Given the description of an element on the screen output the (x, y) to click on. 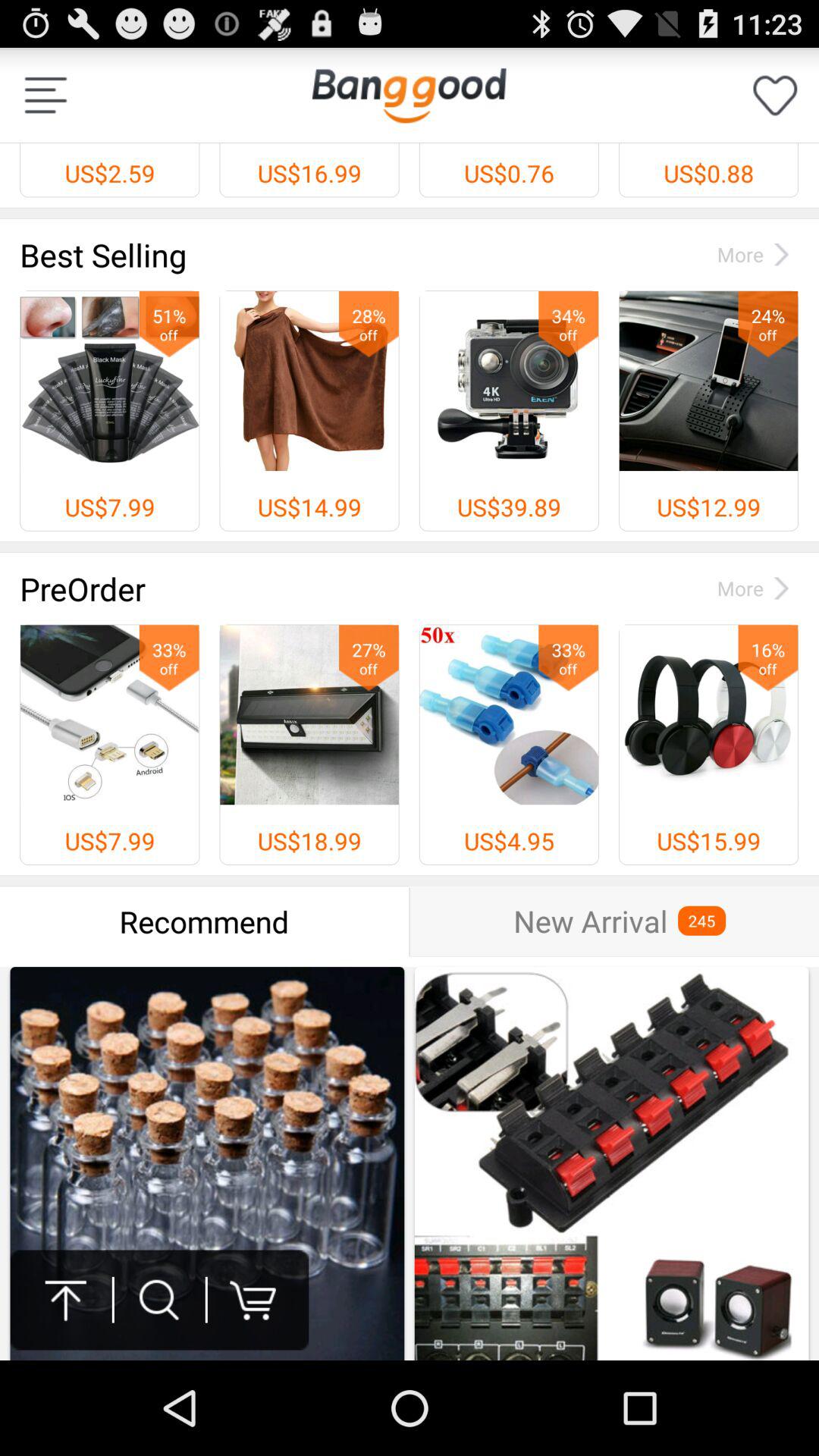
main menu (45, 95)
